Given the description of an element on the screen output the (x, y) to click on. 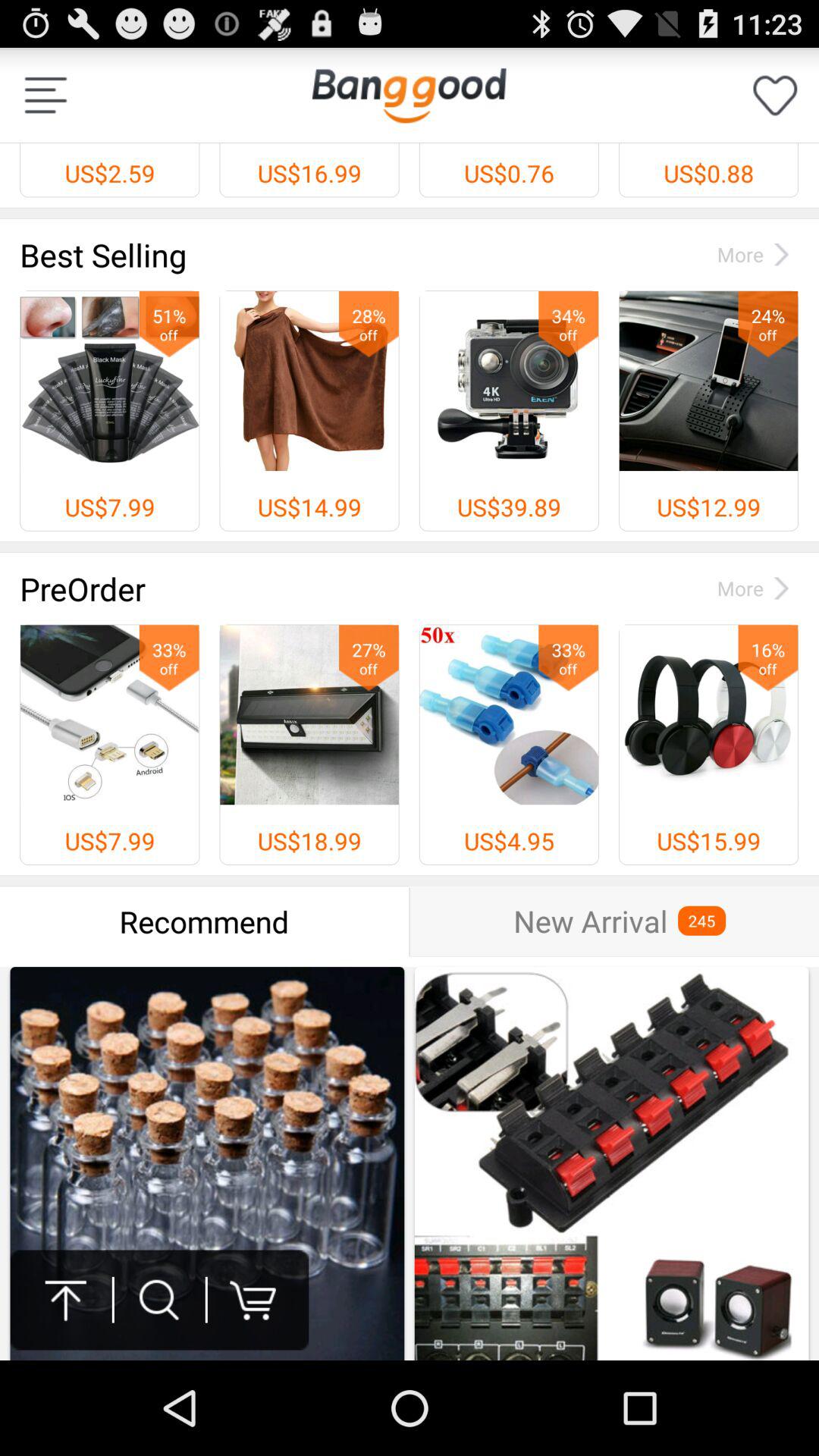
main menu (45, 95)
